Given the description of an element on the screen output the (x, y) to click on. 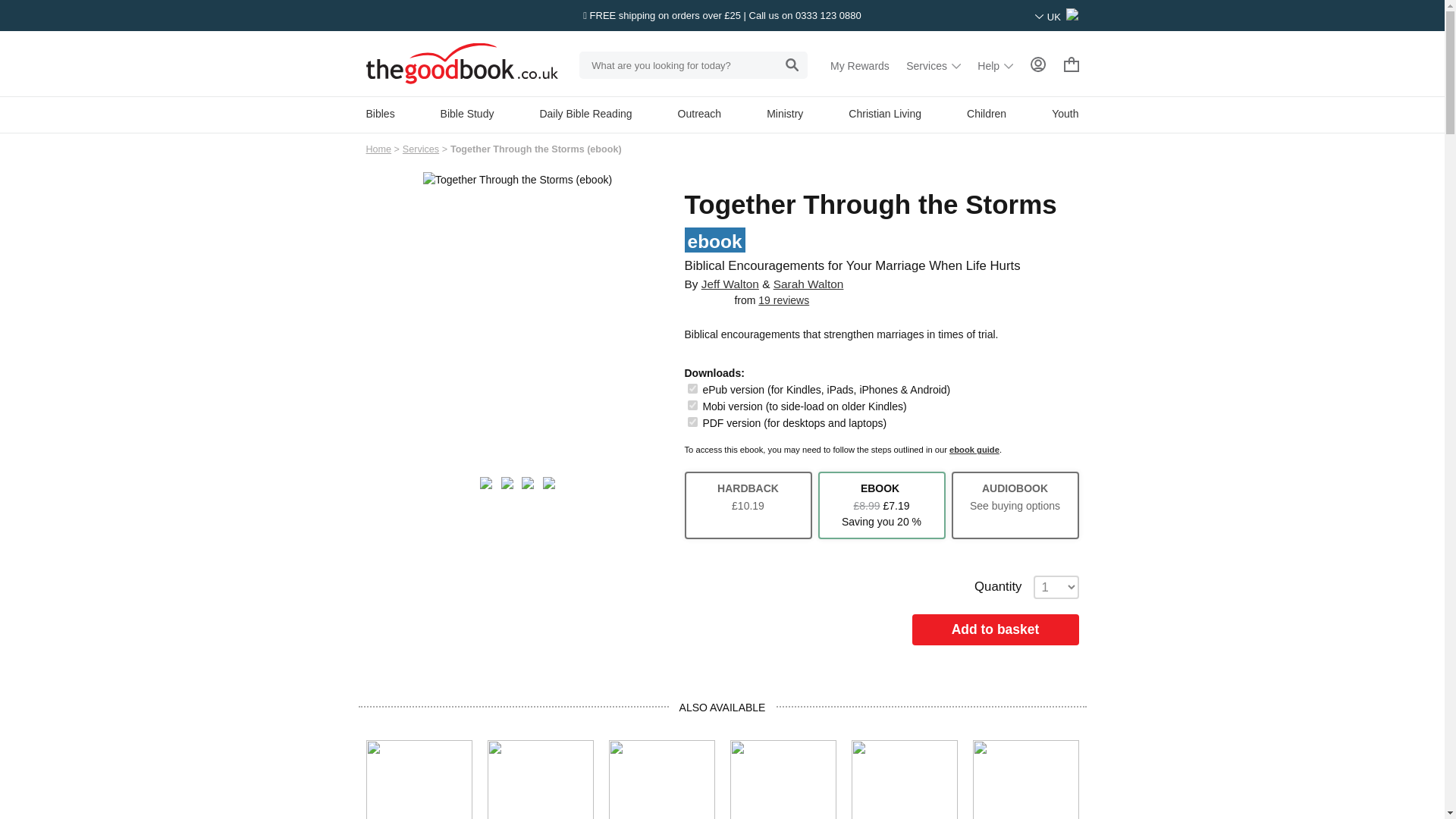
Go to Home Page (378, 149)
1 (692, 421)
1 (692, 388)
1 (692, 405)
My Rewards (859, 65)
Sign in (1037, 64)
UK (1056, 16)
Help (994, 65)
Sign in (1037, 65)
Bibles (379, 113)
Services (932, 65)
